Given the description of an element on the screen output the (x, y) to click on. 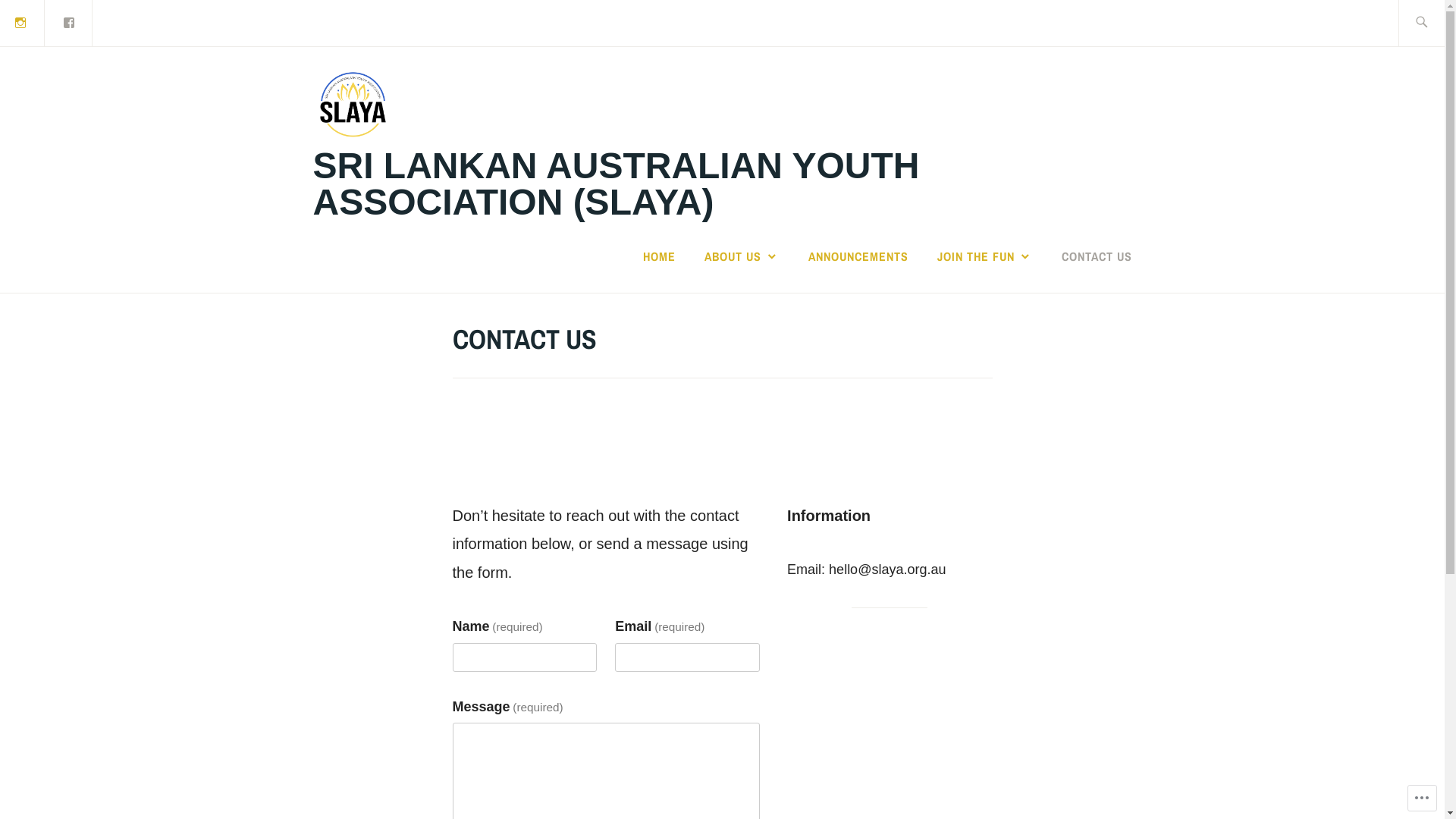
Search for: Element type: hover (1438, 23)
HOME Element type: text (659, 255)
ABOUT US Element type: text (741, 255)
SRI LANKAN AUSTRALIAN YOUTH ASSOCIATION (SLAYA) Element type: text (615, 183)
ANNOUNCEMENTS Element type: text (858, 255)
JOIN THE FUN Element type: text (984, 255)
Search Element type: text (47, 21)
CONTACT US Element type: text (1096, 255)
